Given the description of an element on the screen output the (x, y) to click on. 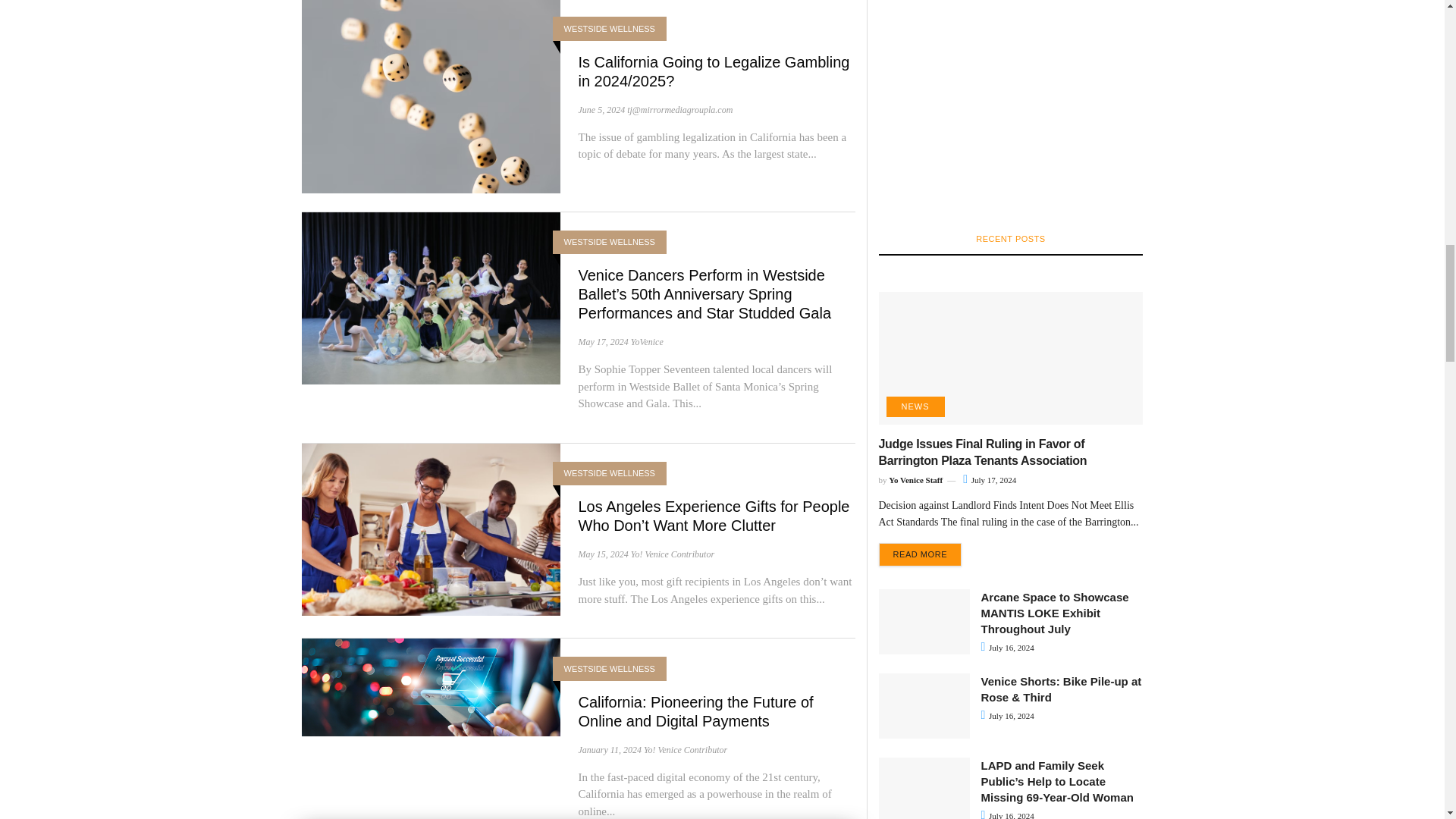
Posts by YoVenice (646, 341)
Posts by Yo! Venice Contributor (672, 553)
